Given the description of an element on the screen output the (x, y) to click on. 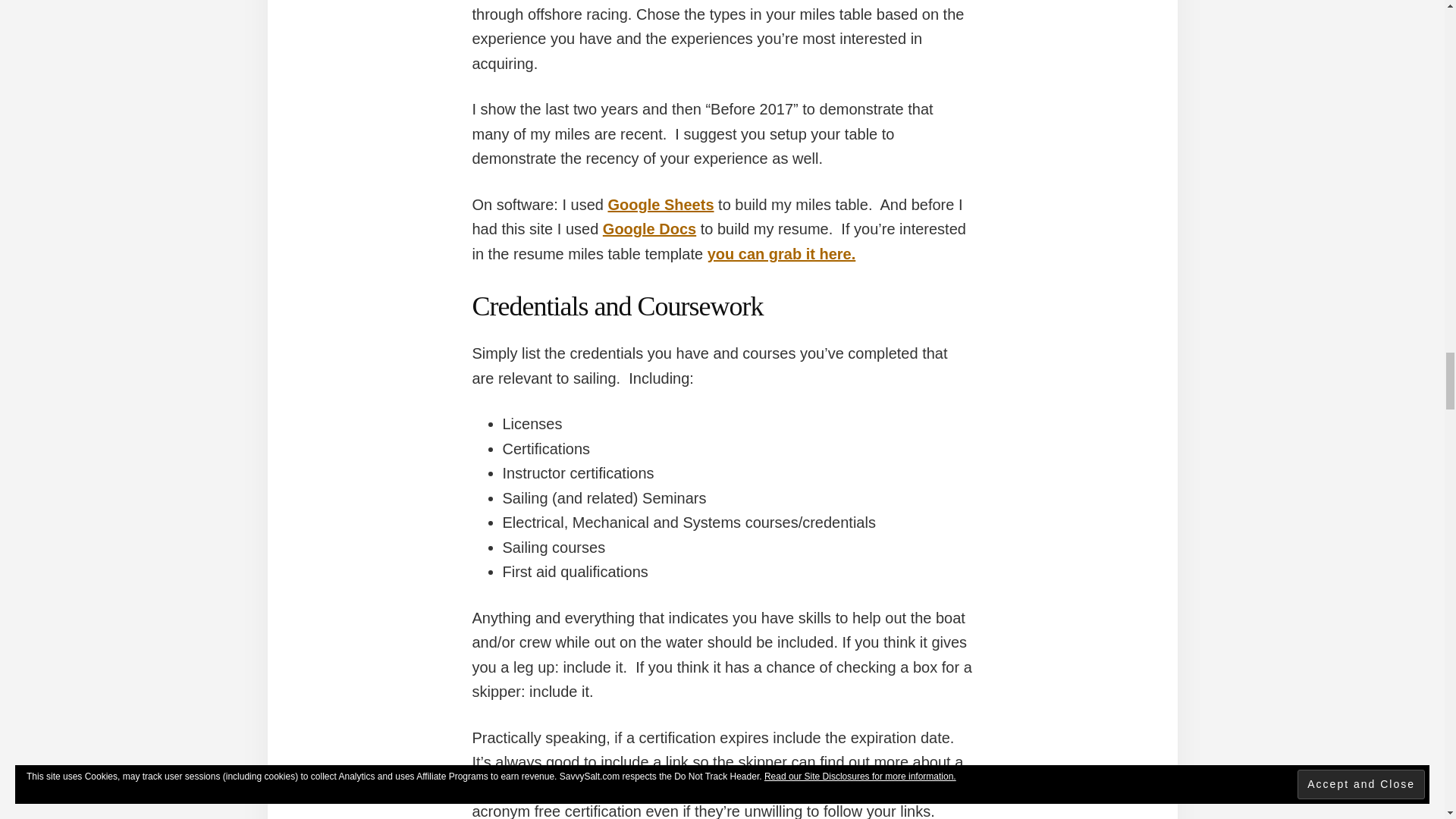
you can grab it here. (781, 253)
Google Docs (648, 228)
Google Sheets (660, 204)
